Given the description of an element on the screen output the (x, y) to click on. 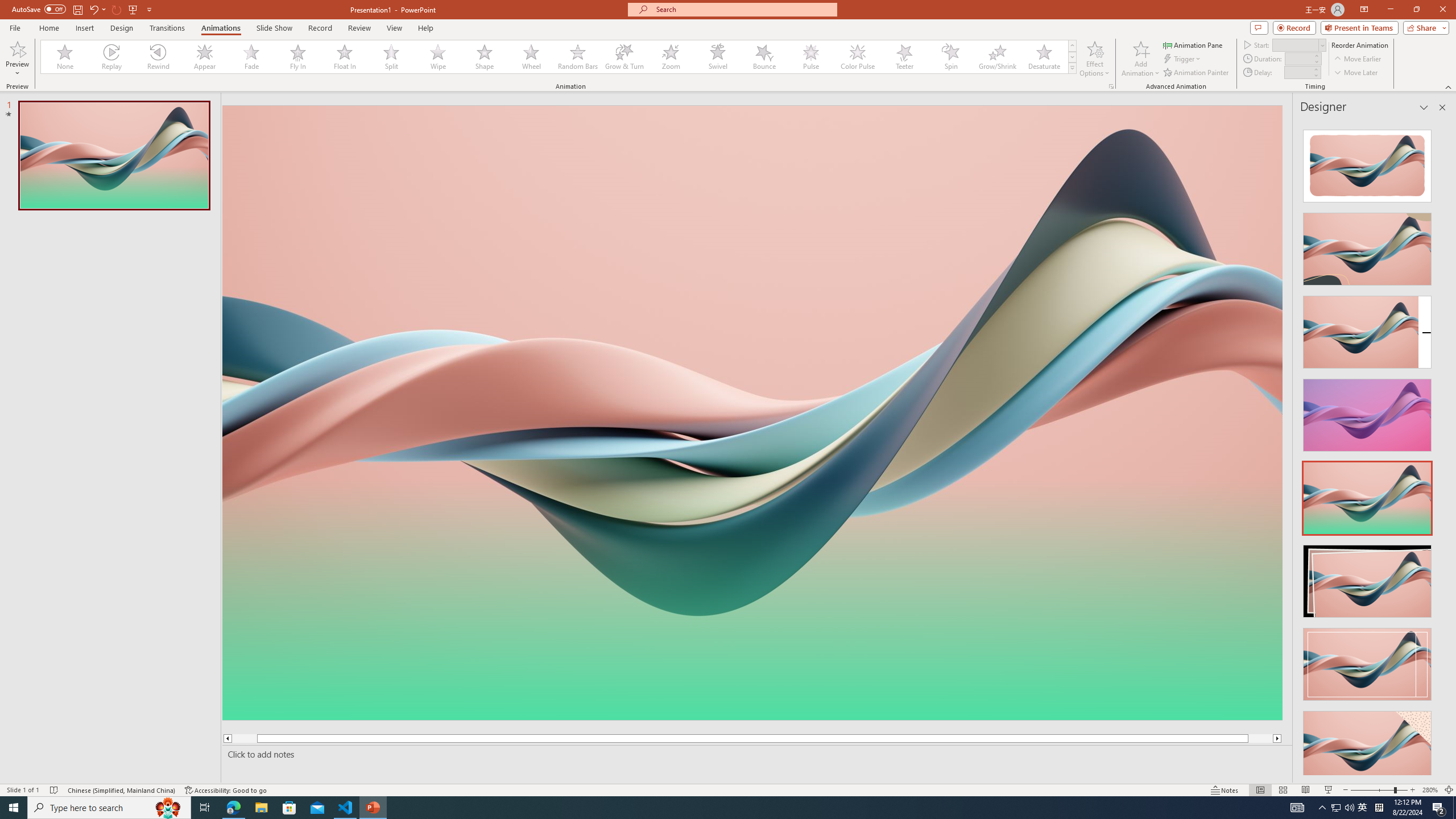
Wavy 3D art (752, 412)
Color Pulse (857, 56)
Swivel (717, 56)
Effect Options (1094, 58)
Fade (251, 56)
Recommended Design: Design Idea (1366, 162)
Grow/Shrink (997, 56)
Replay (111, 56)
Split (391, 56)
